Given the description of an element on the screen output the (x, y) to click on. 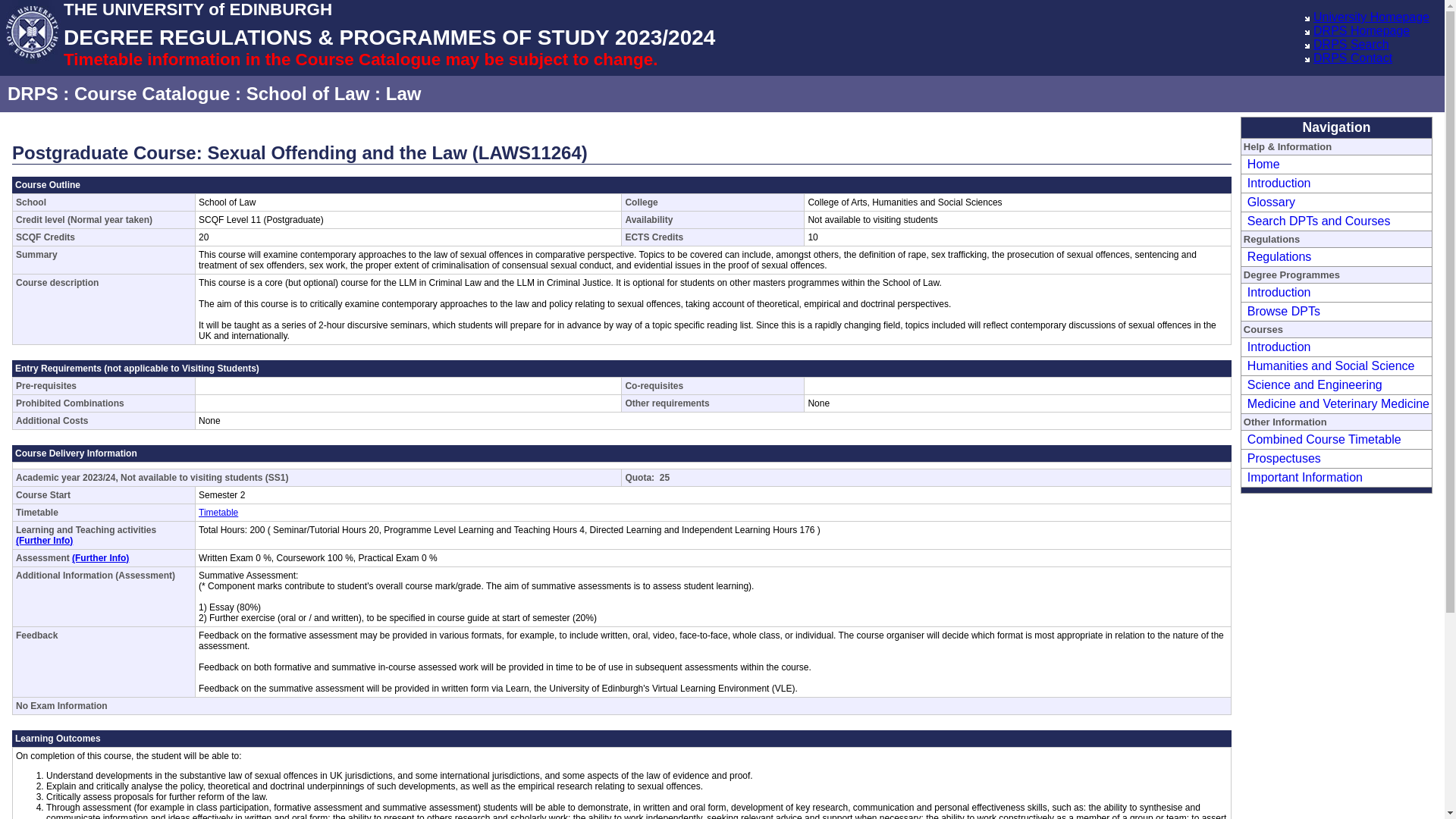
Important Information (1302, 477)
Introduction (1277, 182)
DRPS Homepage (1361, 30)
Combined Course Timetable (1321, 439)
School of Law (307, 93)
Home (1261, 164)
Regulations (1277, 256)
Law (403, 93)
Introduction (1277, 346)
Search DPTs and Courses (1316, 220)
Browse DPTs (1281, 310)
Timetable (218, 511)
DRPS (32, 93)
DRPS Contact (1352, 57)
Prospectuses (1281, 458)
